Given the description of an element on the screen output the (x, y) to click on. 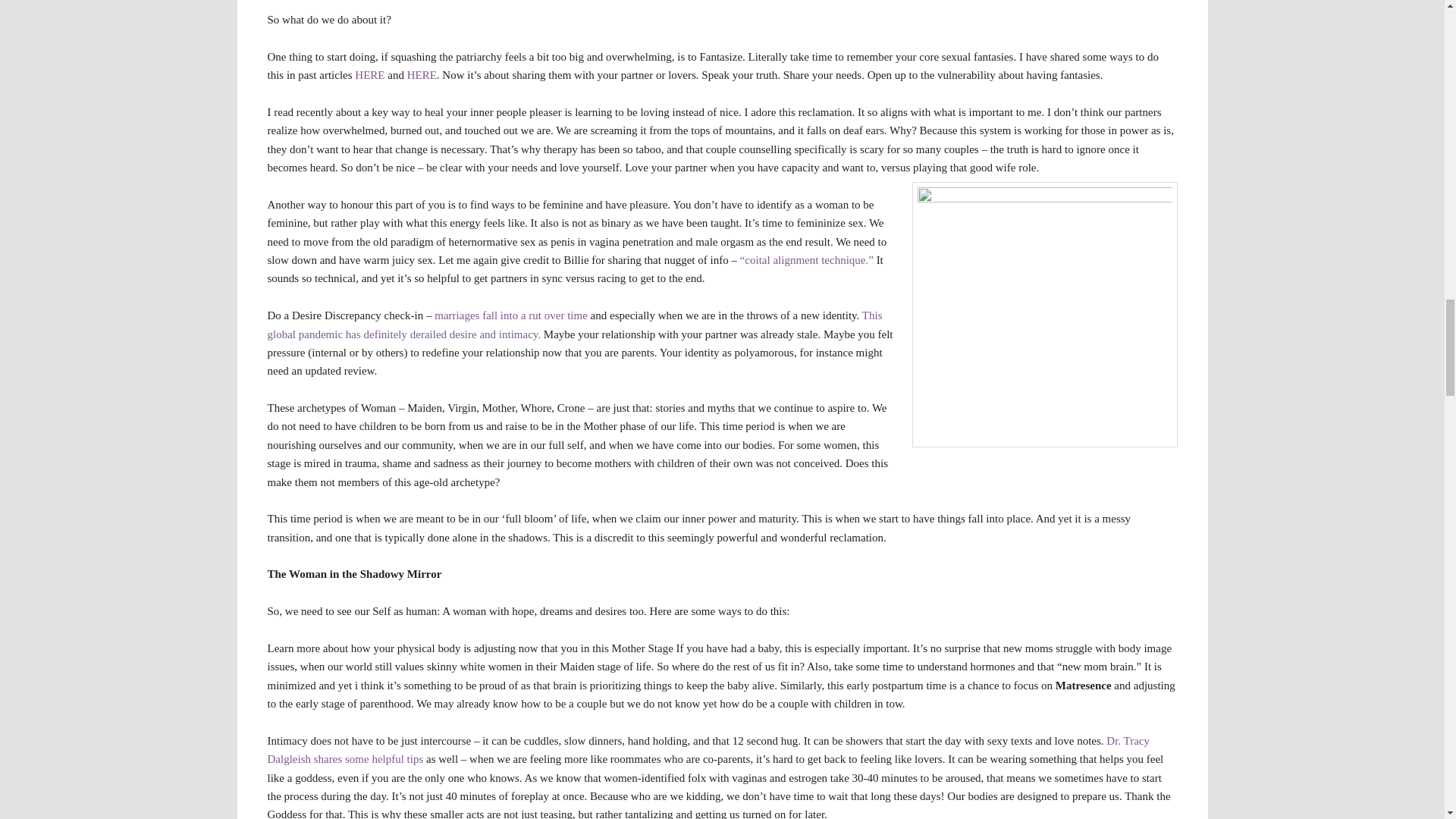
HERE (369, 74)
Dr. Tracy Dalgleish shares some helpful tips (708, 749)
marriages fall into a rut over time (510, 315)
HERE (421, 74)
